Given the description of an element on the screen output the (x, y) to click on. 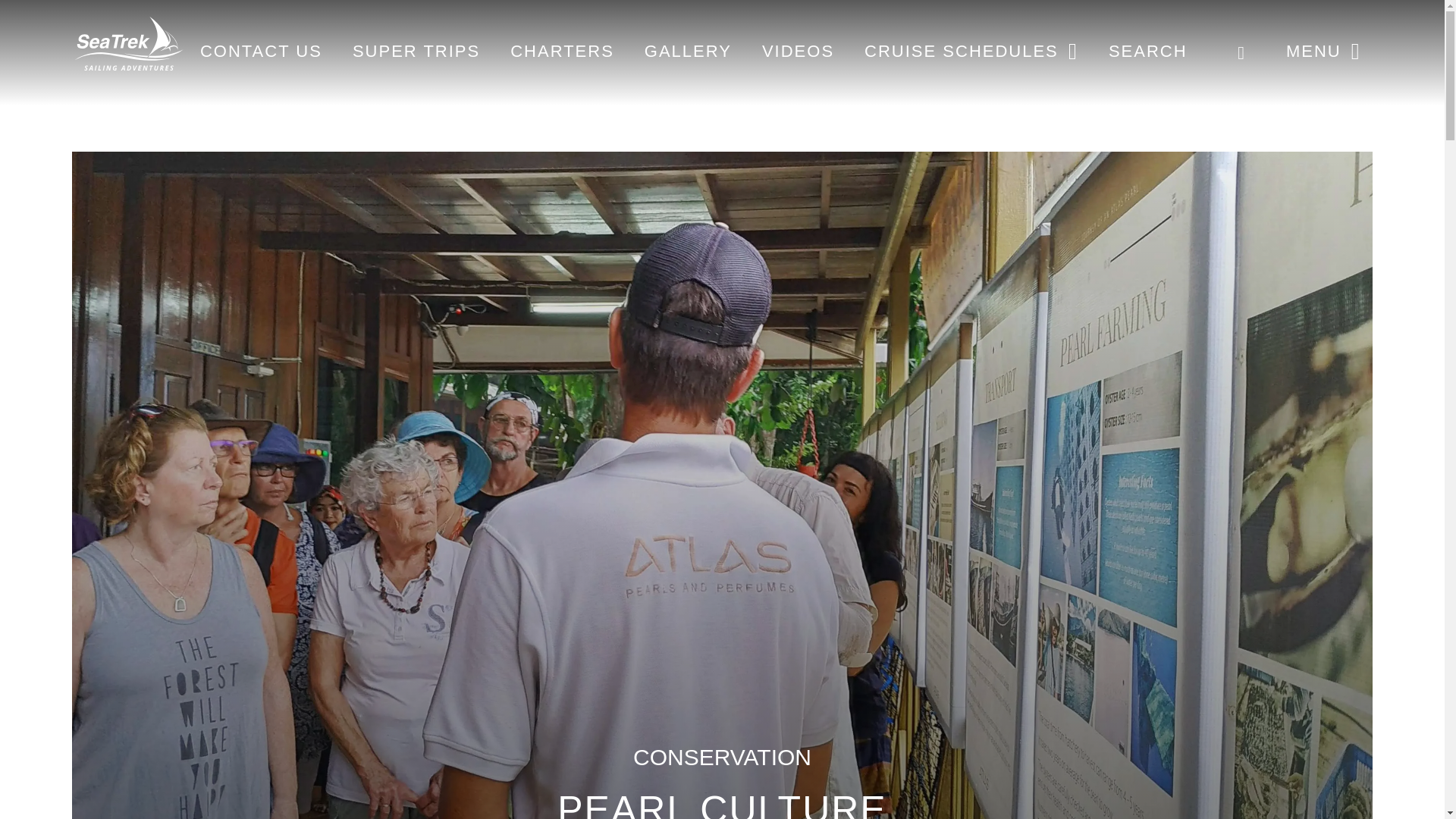
CONTACT US (261, 51)
VIDEOS (798, 51)
MENU (1324, 51)
SUPER TRIPS (416, 51)
GALLERY (687, 51)
CRUISE SCHEDULES (971, 51)
CHARTERS (562, 51)
